Given the description of an element on the screen output the (x, y) to click on. 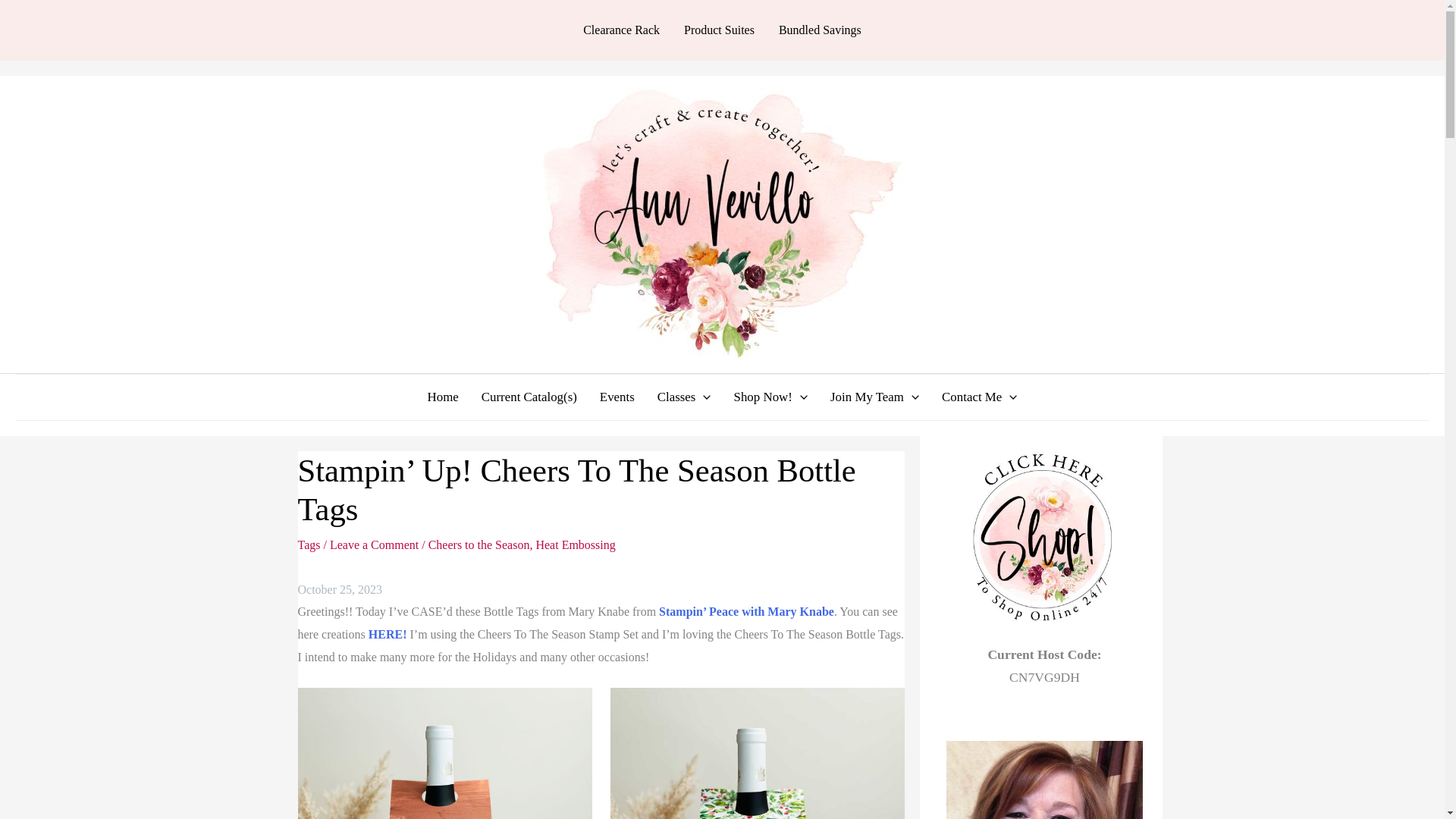
Bundled Savings (820, 30)
ERE! (391, 634)
Tags (308, 544)
Clearance Rack (620, 30)
Product Suites (719, 30)
Heat Embossing (574, 544)
Shop Now! (770, 397)
Home (443, 397)
Leave a Comment (374, 544)
Events (617, 397)
Cheers to the Season (478, 544)
Classes (684, 397)
Join My Team (874, 397)
Contact Me (978, 397)
